Given the description of an element on the screen output the (x, y) to click on. 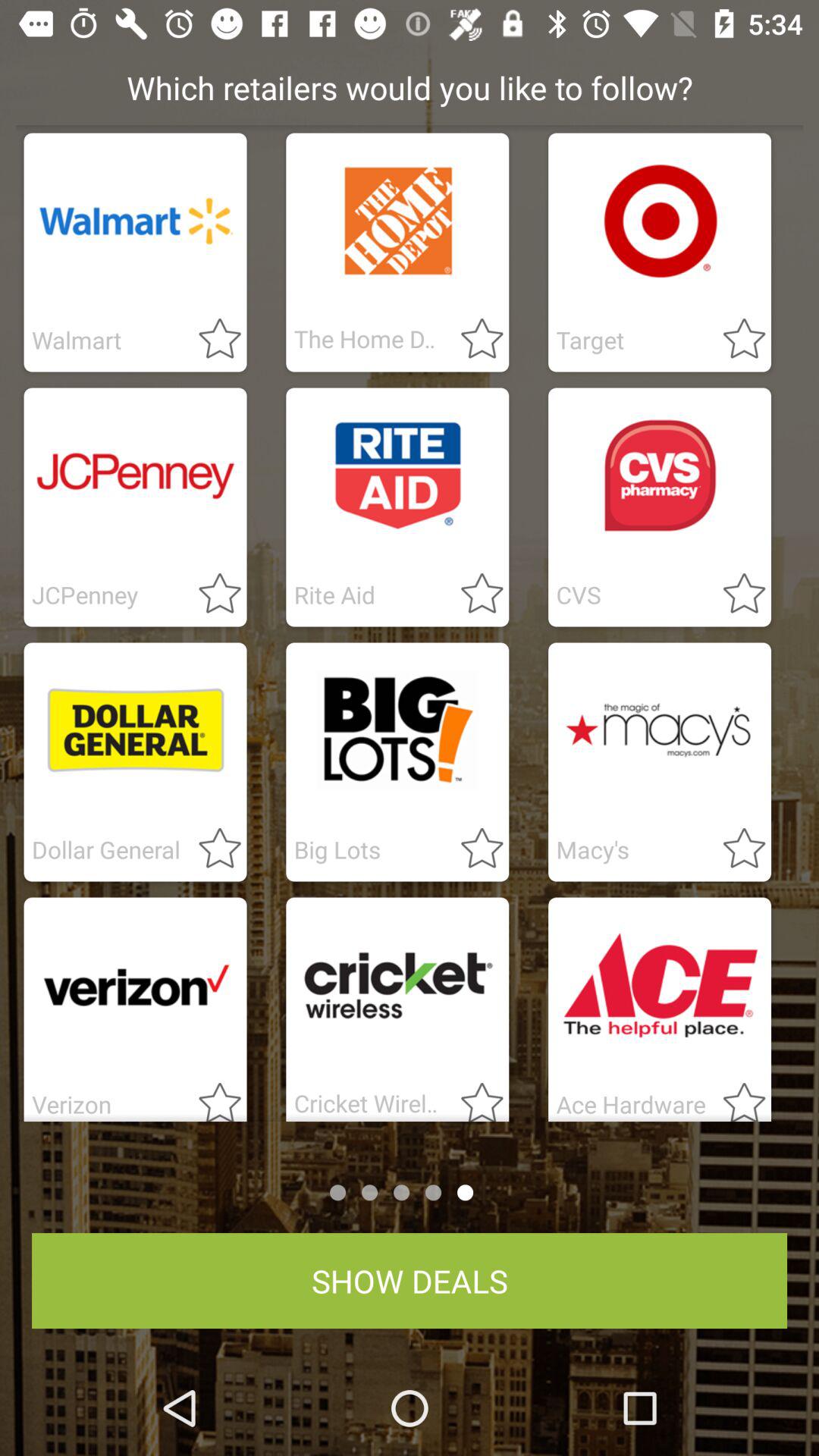
favrite verizon (210, 1096)
